Given the description of an element on the screen output the (x, y) to click on. 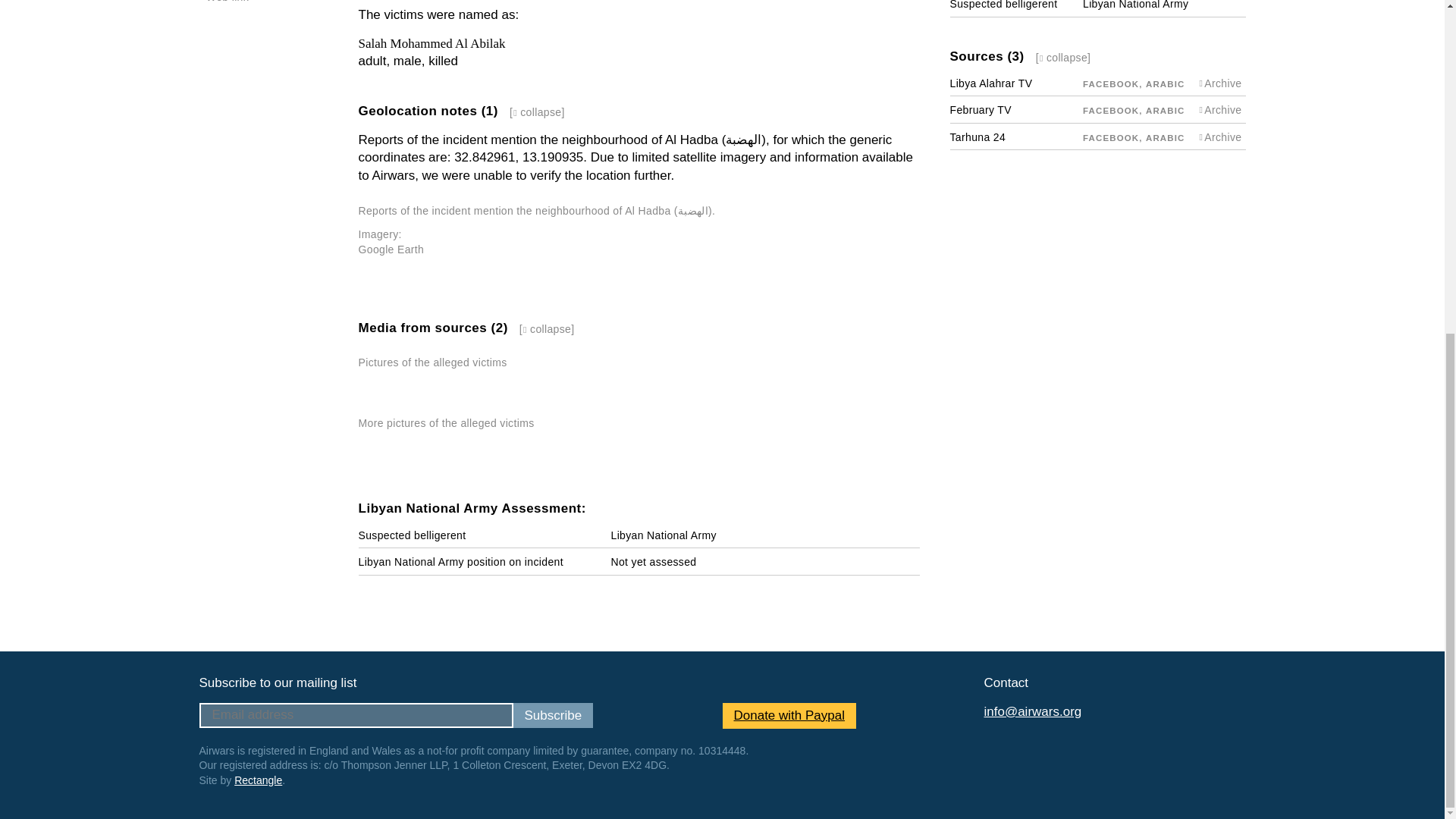
Web link (227, 1)
Libya Alahrar TV (990, 82)
Subscribe (552, 715)
